Given the description of an element on the screen output the (x, y) to click on. 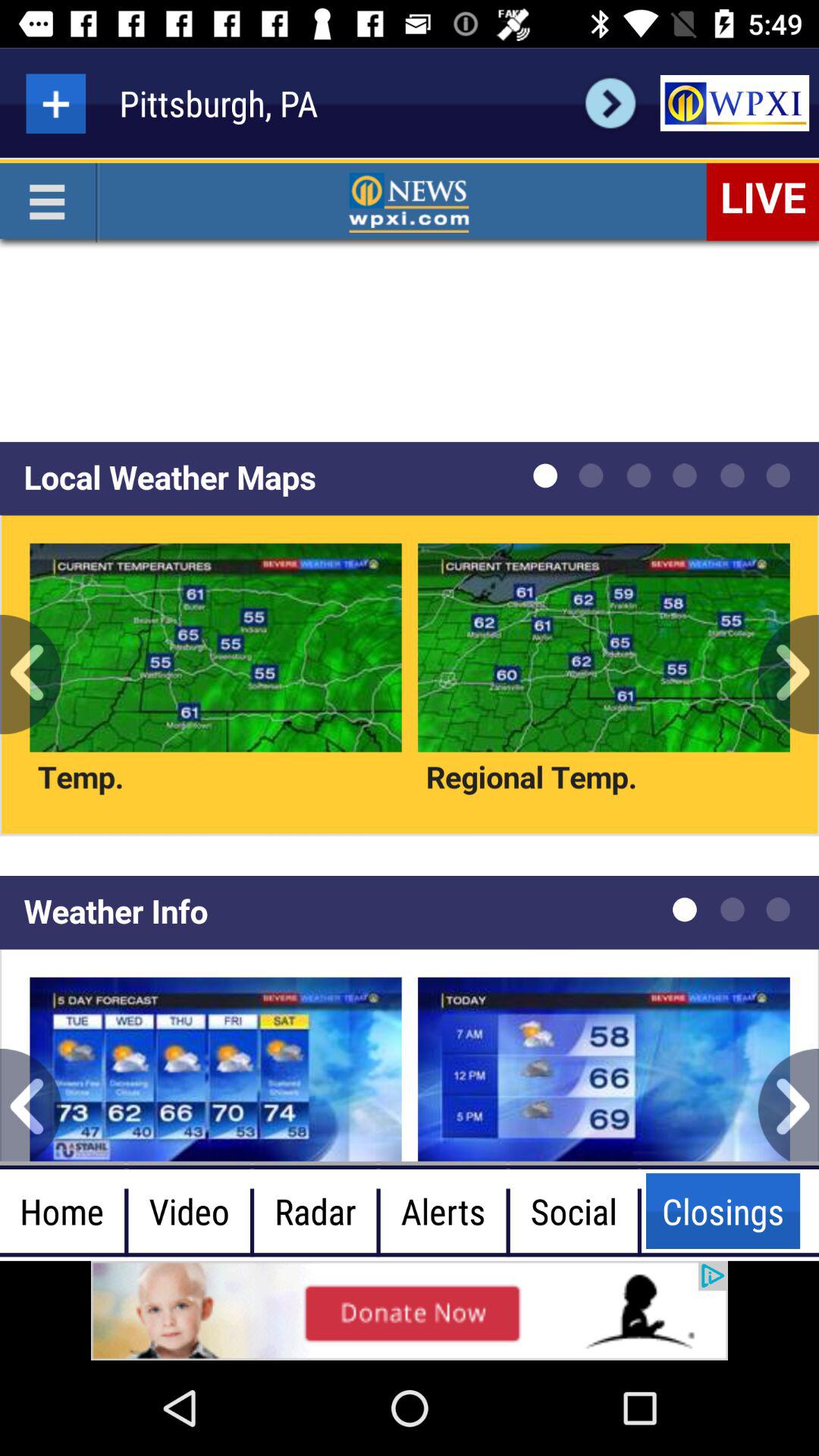
open advertisement (734, 103)
